Given the description of an element on the screen output the (x, y) to click on. 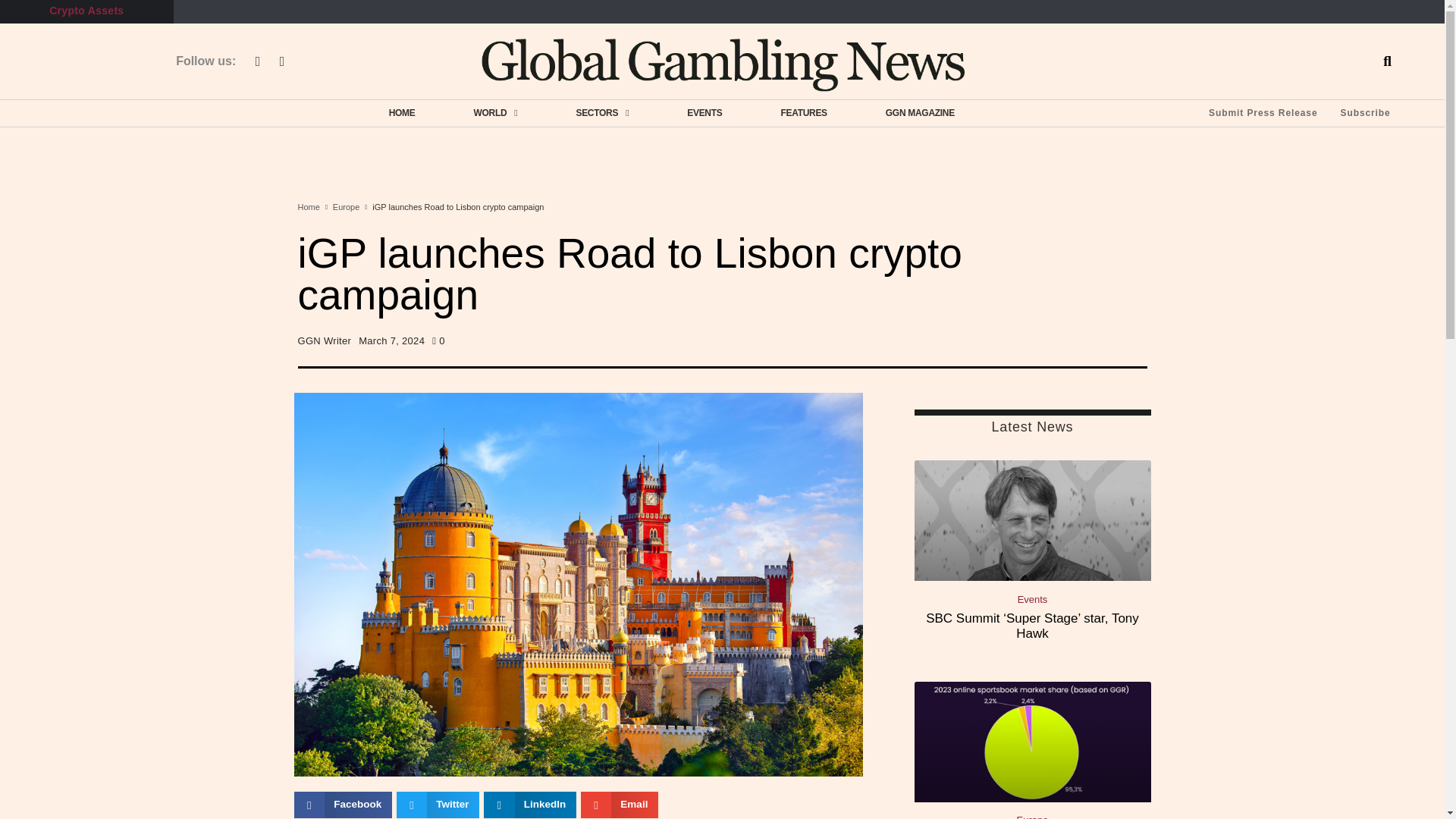
HOME (402, 112)
SECTORS (601, 112)
WORLD (495, 112)
Europe (346, 207)
GGN MAGAZINE (919, 112)
EVENTS (703, 112)
FEATURES (803, 112)
Home (307, 207)
